Given the description of an element on the screen output the (x, y) to click on. 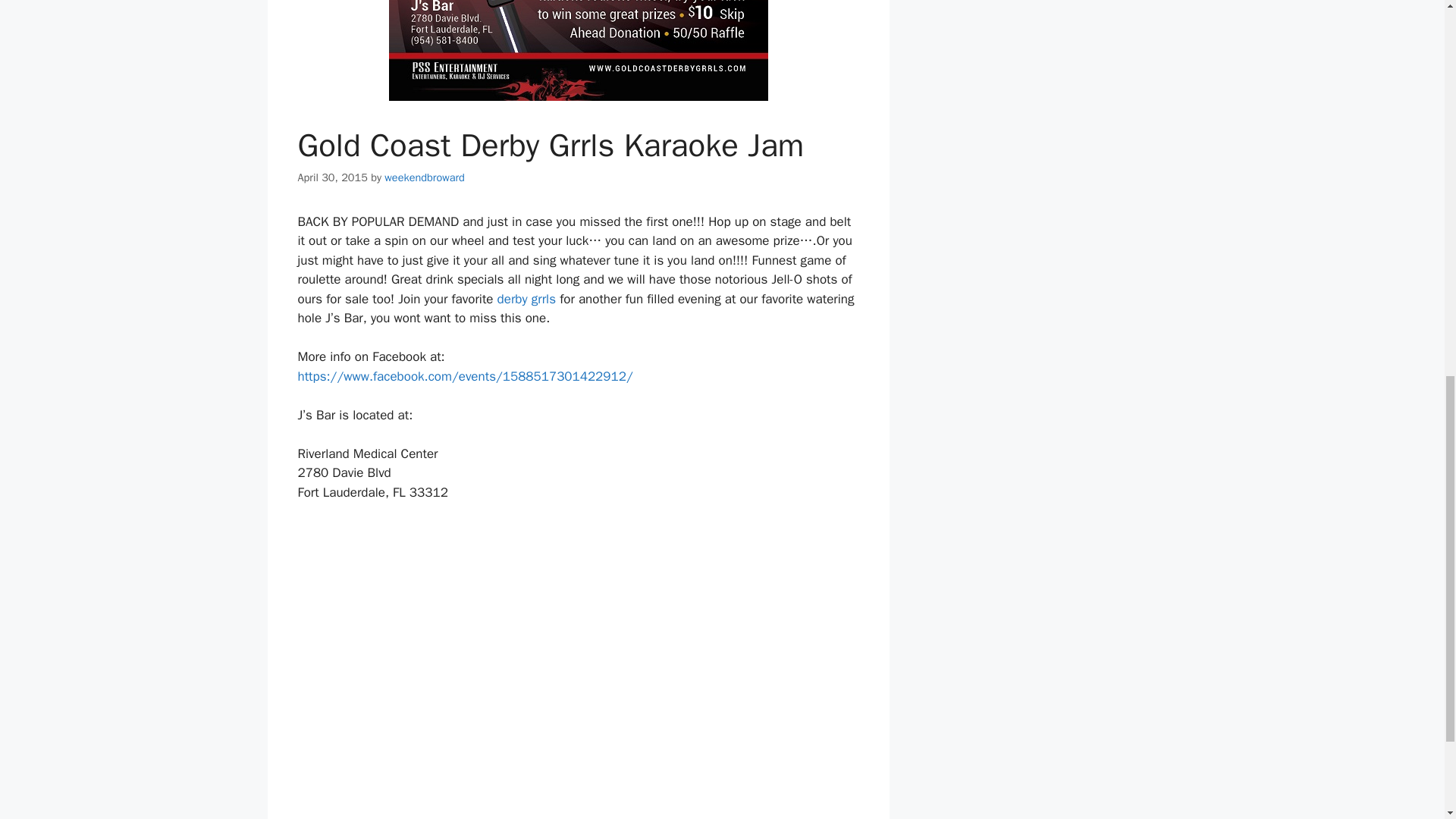
weekendbroward (424, 177)
derby grrls (526, 299)
View all posts by weekendbroward (424, 177)
